Given the description of an element on the screen output the (x, y) to click on. 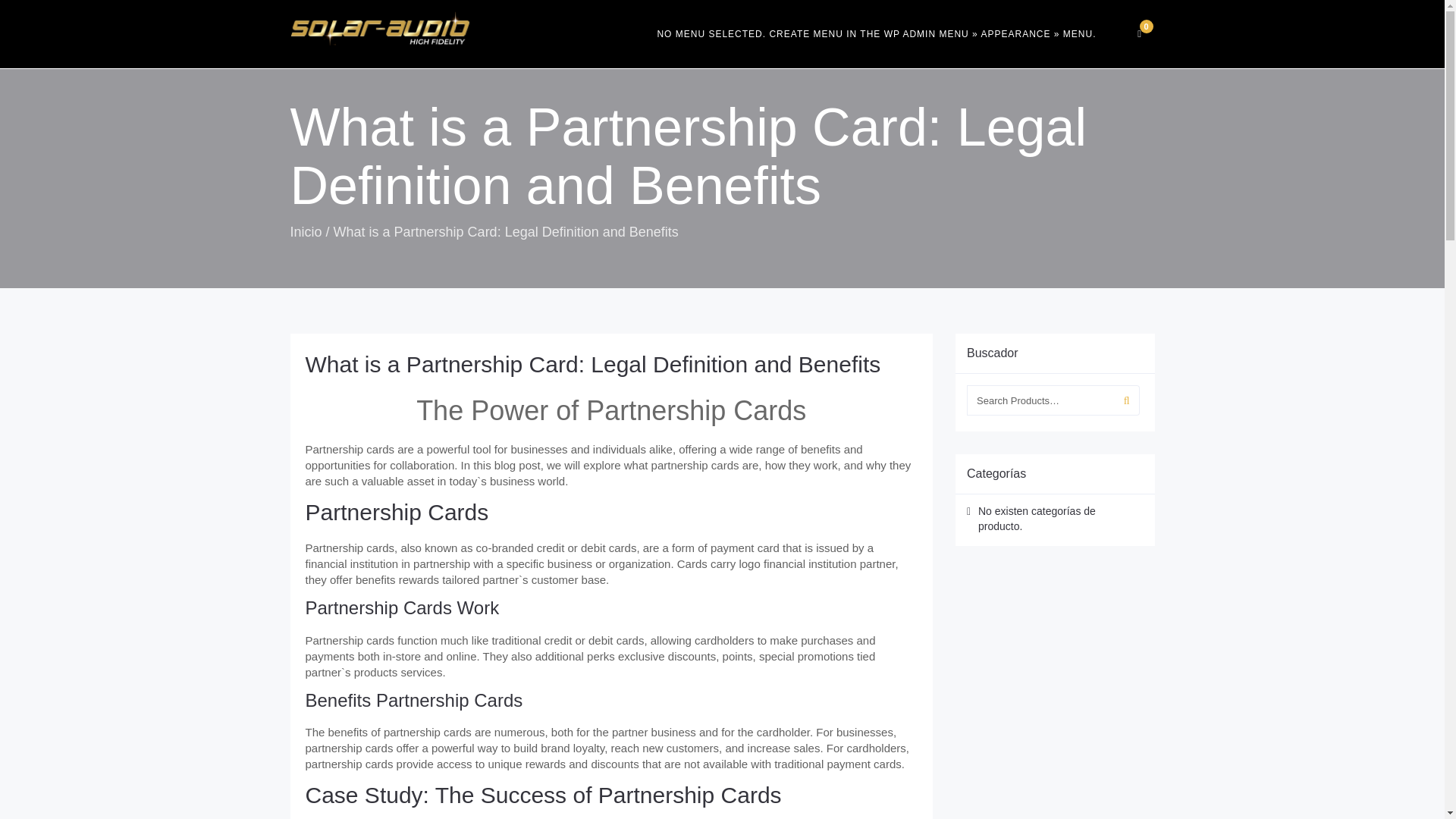
Search for: (1040, 399)
What is a Partnership Card: Legal Definition and Benefits (592, 364)
Inicio (305, 231)
